Given the description of an element on the screen output the (x, y) to click on. 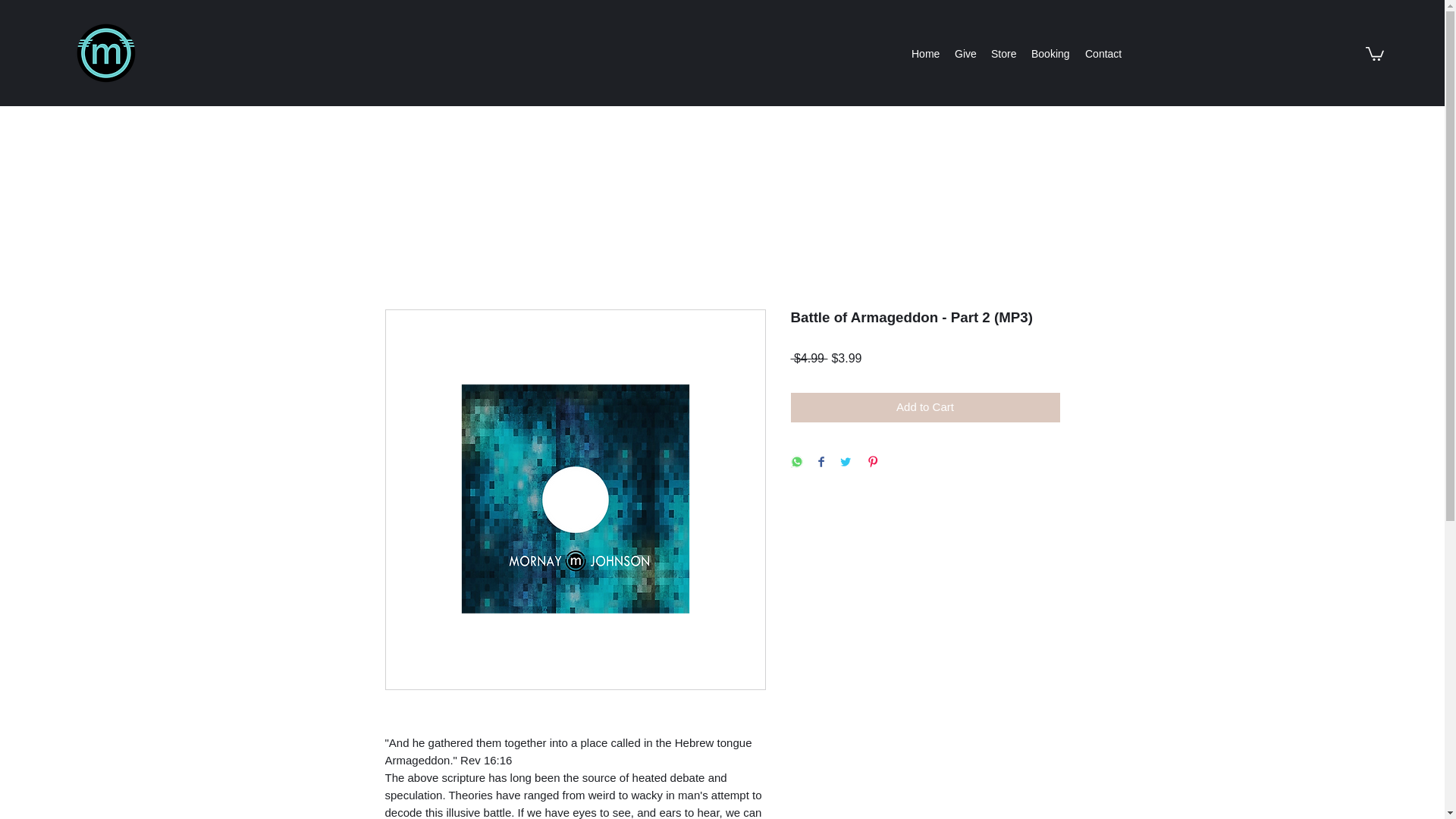
Contact (1102, 53)
Give (965, 53)
Home (925, 53)
Add to Cart (924, 407)
Booking (1050, 53)
Store (1003, 53)
